Given the description of an element on the screen output the (x, y) to click on. 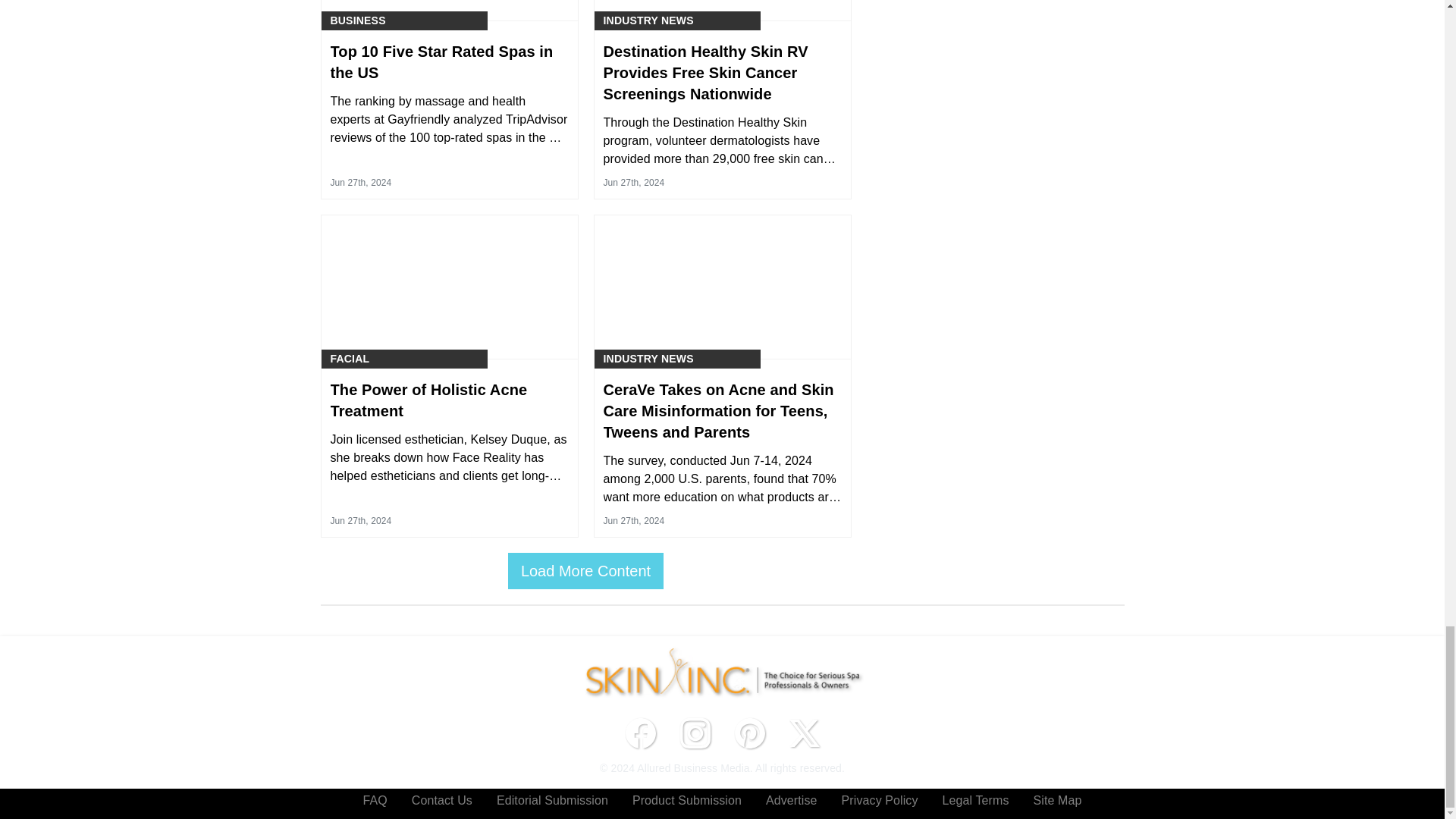
Instagram icon (694, 733)
Facebook icon (639, 733)
Pinterest icon (748, 733)
Twitter X icon (803, 733)
